Given the description of an element on the screen output the (x, y) to click on. 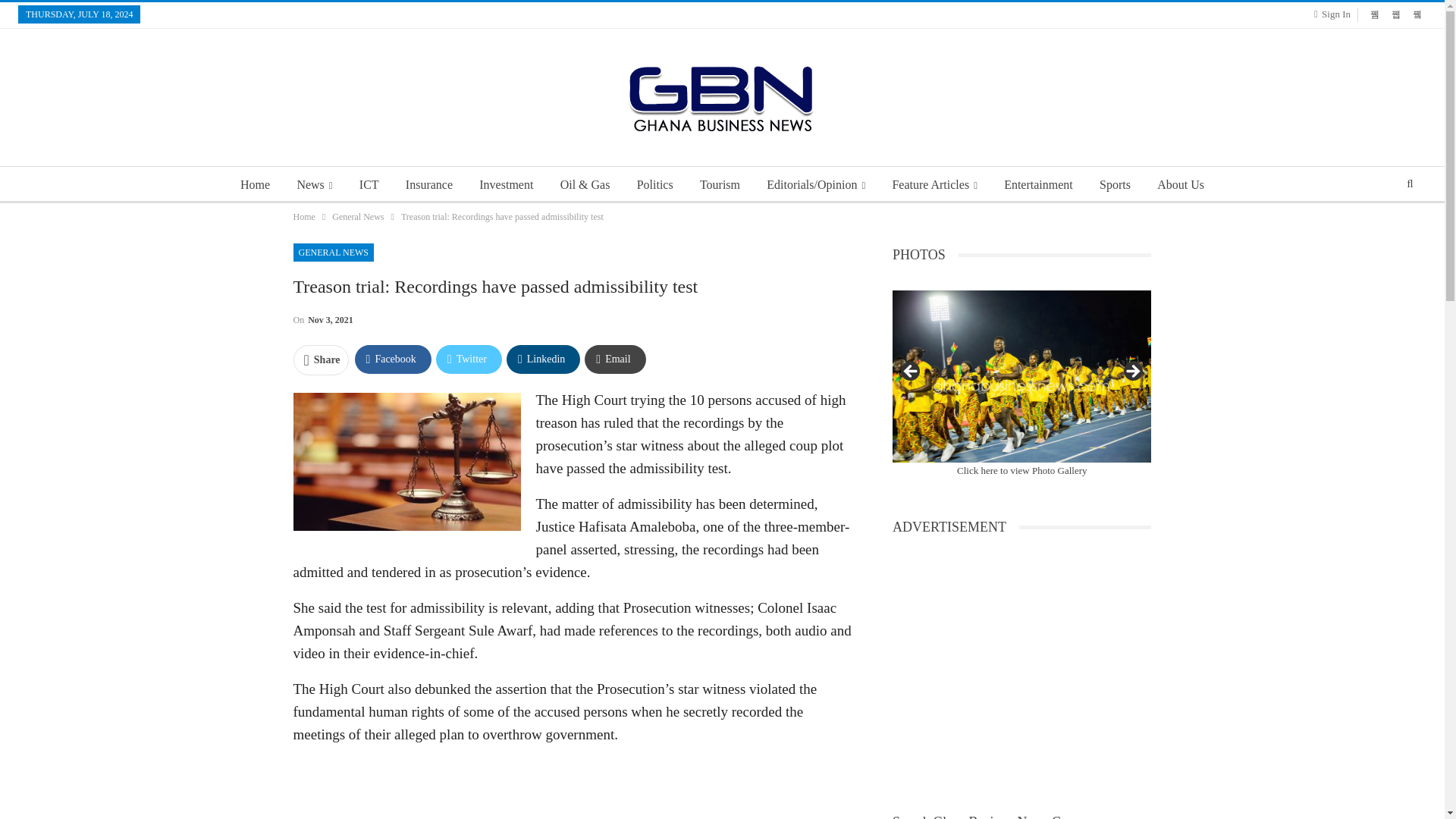
Sign In (1335, 13)
Facebook (392, 358)
Tourism (719, 185)
Sports (1115, 185)
Home (255, 185)
Advertisement (574, 789)
Linkedin (542, 358)
ICT (369, 185)
Investment (505, 185)
Home (303, 216)
13th-African-games-18 (1021, 376)
Twitter (468, 358)
GENERAL NEWS (333, 252)
Entertainment (1037, 185)
General News (357, 216)
